Given the description of an element on the screen output the (x, y) to click on. 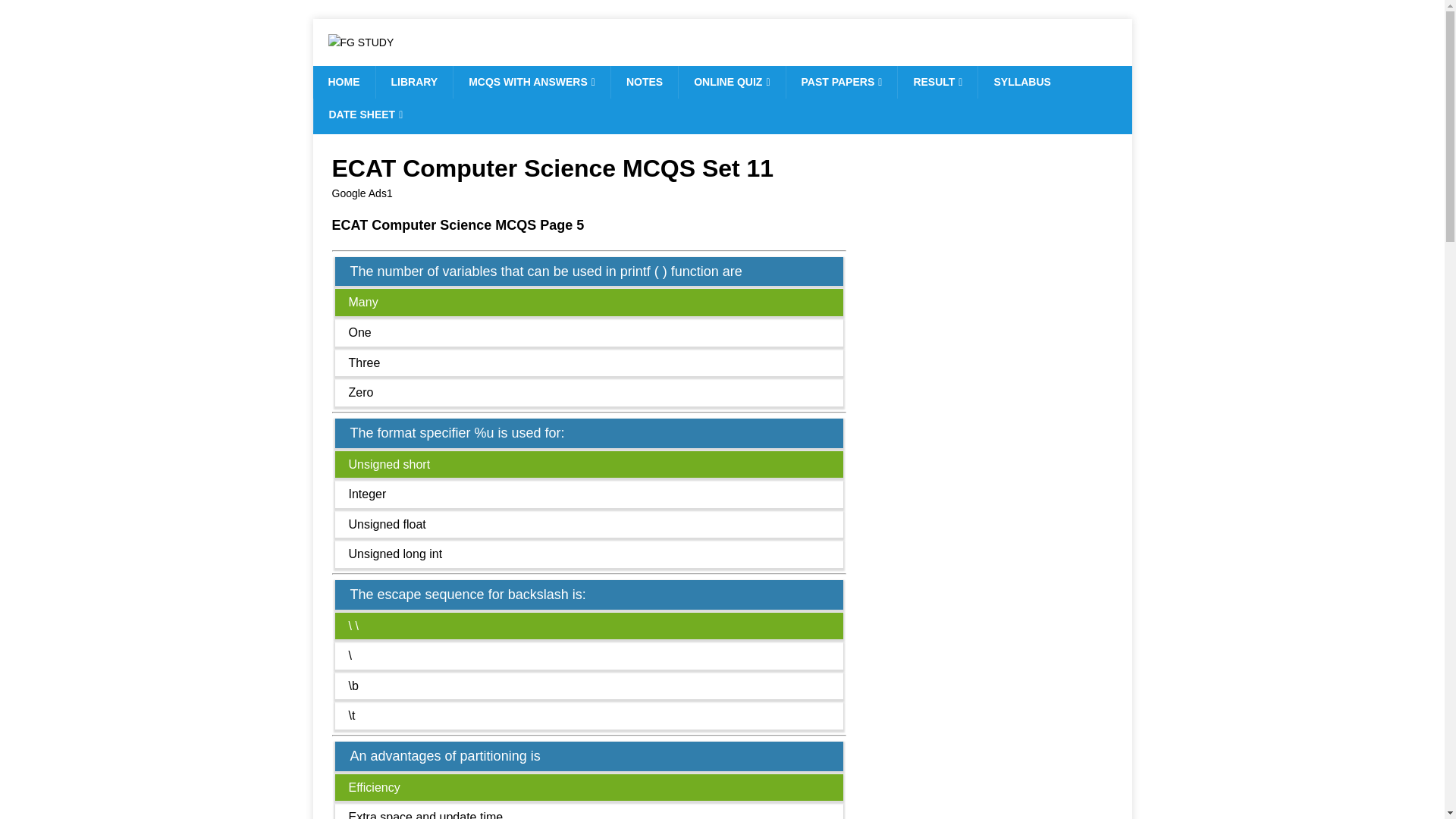
LIBRARY (413, 81)
MCQS WITH ANSWERS (531, 81)
HOME (343, 81)
